Given the description of an element on the screen output the (x, y) to click on. 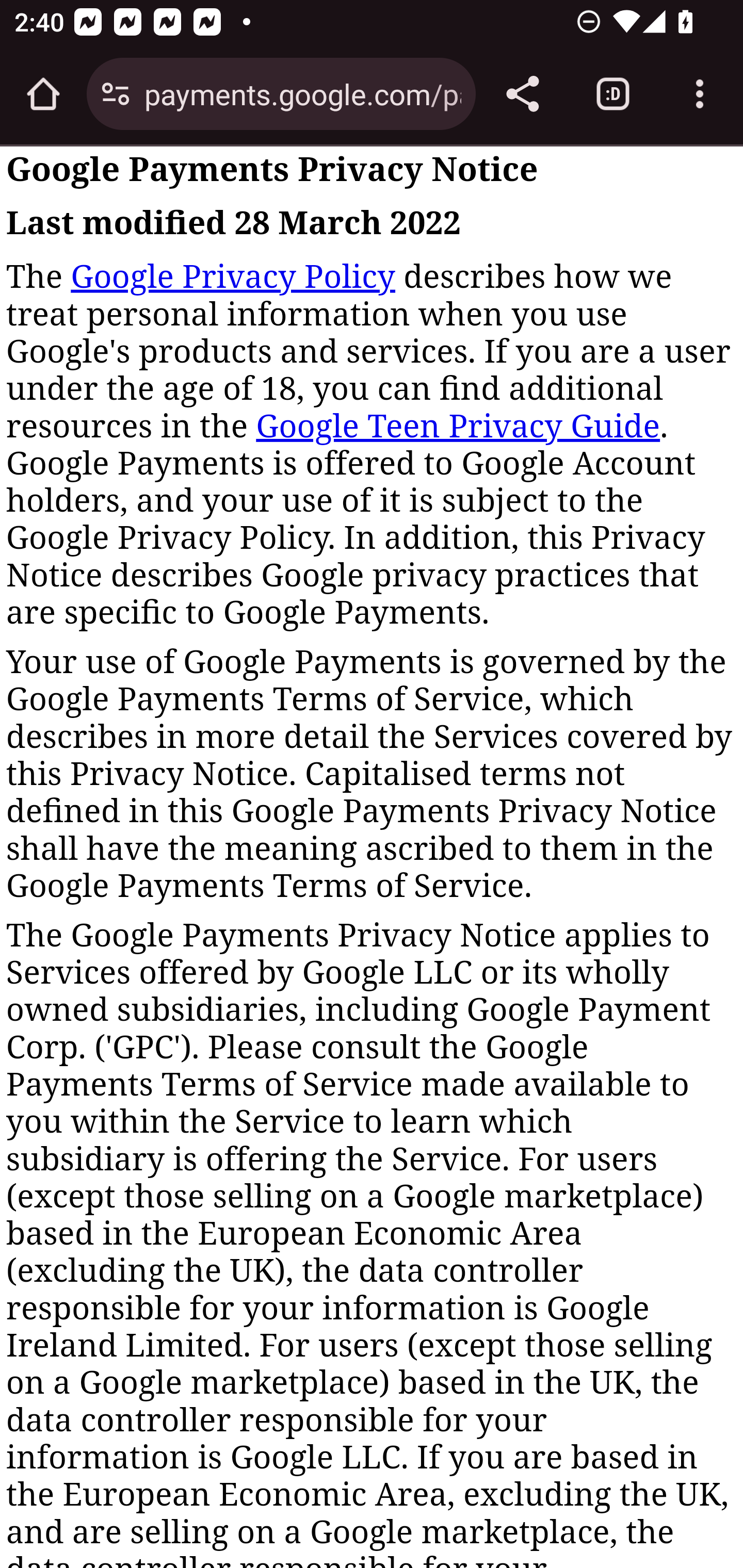
Open the home page (43, 93)
Connection is secure (115, 93)
Share (522, 93)
Switch or close tabs (612, 93)
Customize and control Google Chrome (699, 93)
Google Privacy Policy (232, 276)
Google Teen Privacy Guide (457, 426)
